Given the description of an element on the screen output the (x, y) to click on. 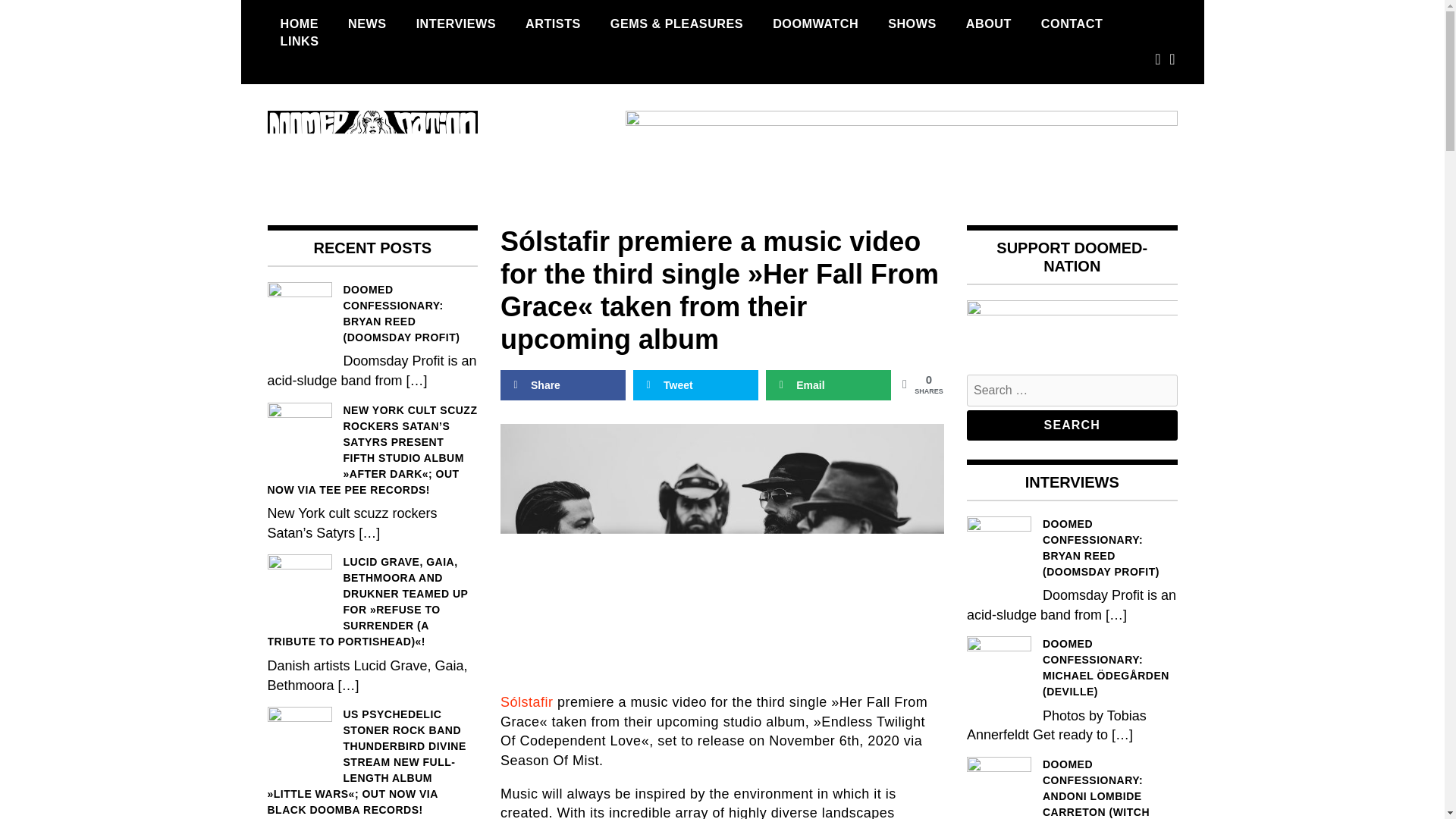
Email (828, 385)
LINKS (298, 40)
SHOWS (911, 23)
Search (1071, 425)
Share on Facebook (563, 385)
HOME (298, 23)
CONTACT (1071, 23)
INTERVIEWS (455, 23)
NEWS (366, 23)
Support Doomed-Nation (1071, 329)
